Given the description of an element on the screen output the (x, y) to click on. 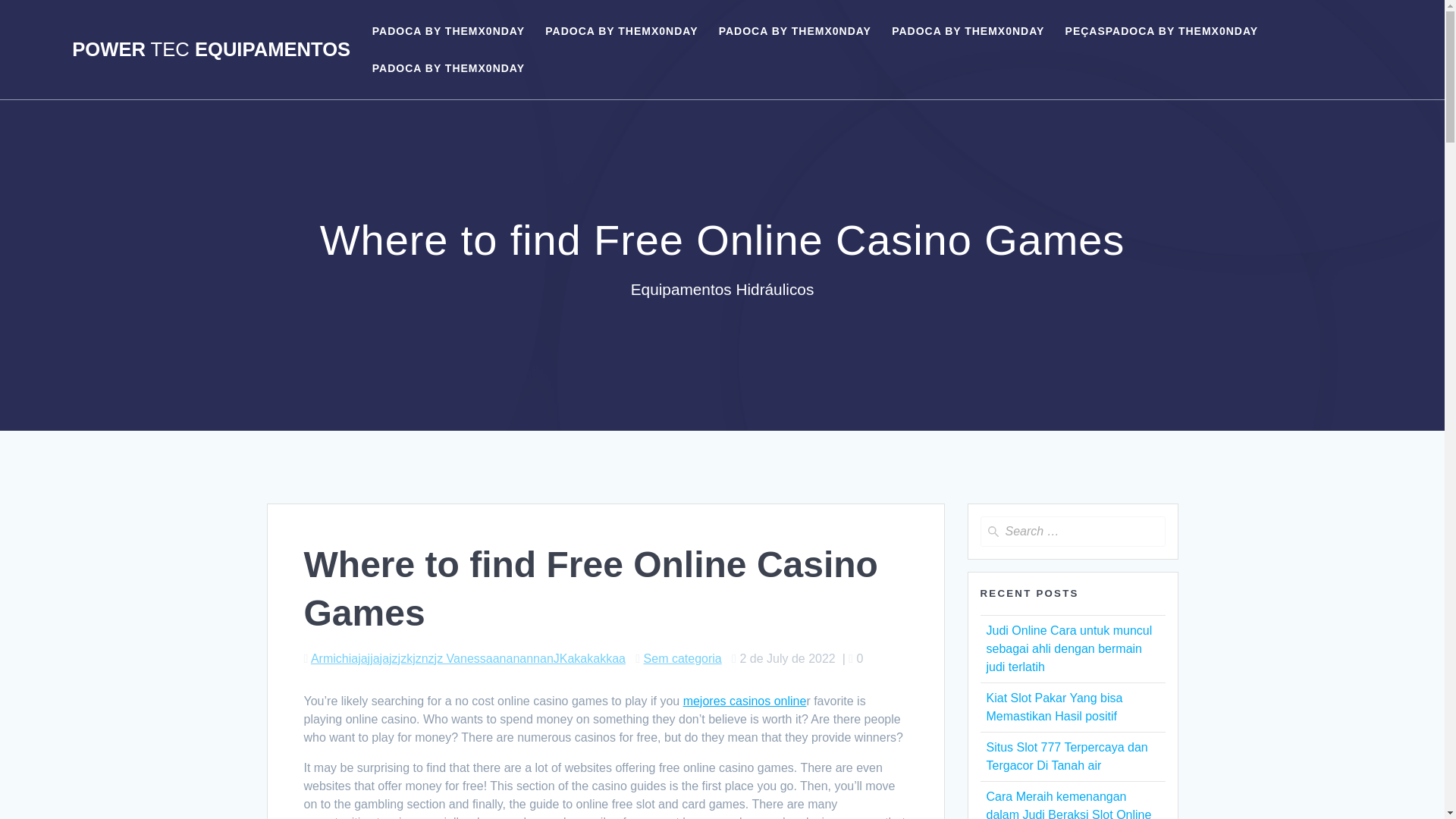
PADOCA BY THEMX0NDAY (448, 67)
PADOCA BY THEMX0NDAY (794, 30)
PADOCA BY THEMX0NDAY (967, 30)
PADOCA BY THEMX0NDAY (620, 30)
PADOCA BY THEMX0NDAY (448, 30)
Sem categoria (682, 658)
mejores casinos online (744, 700)
Armichiajajjajajzjzkjznzjz VanessaananannanJKakakakkaa (468, 658)
POWER TEC EQUIPAMENTOS (210, 49)
Situs Slot 777 Terpercaya dan Tergacor Di Tanah air (1066, 756)
Kiat Slot Pakar Yang bisa Memastikan Hasil positif (1053, 706)
Cara Meraih kemenangan dalam Judi Beraksi Slot Online (1068, 804)
